Given the description of an element on the screen output the (x, y) to click on. 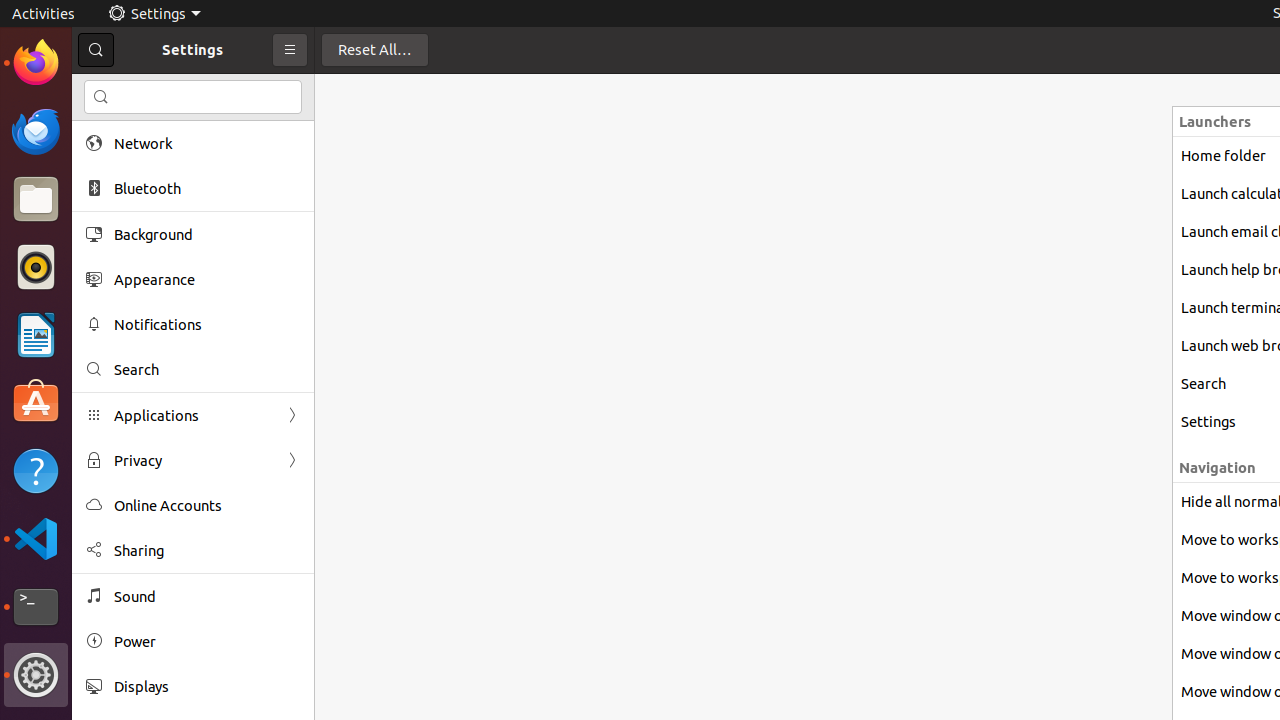
Displays Element type: label (207, 686)
luyi1 Element type: label (133, 89)
Online Accounts Element type: label (207, 505)
Power Element type: label (207, 641)
Reset All… Element type: push-button (375, 50)
